Given the description of an element on the screen output the (x, y) to click on. 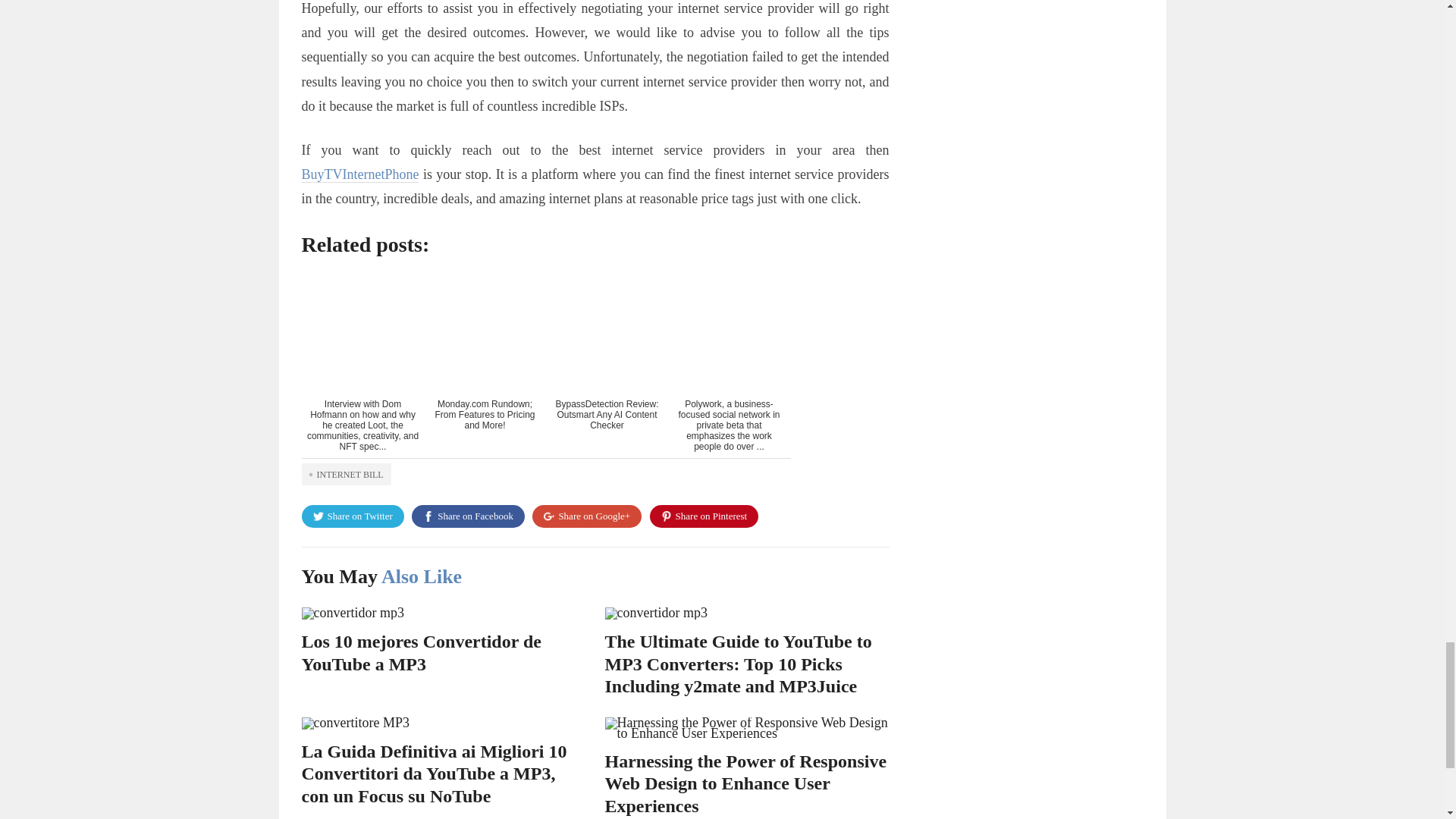
Share on Pinterest (703, 516)
Share on Twitter (352, 516)
BuyTVInternetPhone (360, 174)
Share on Facebook (468, 516)
INTERNET BILL (346, 473)
